Given the description of an element on the screen output the (x, y) to click on. 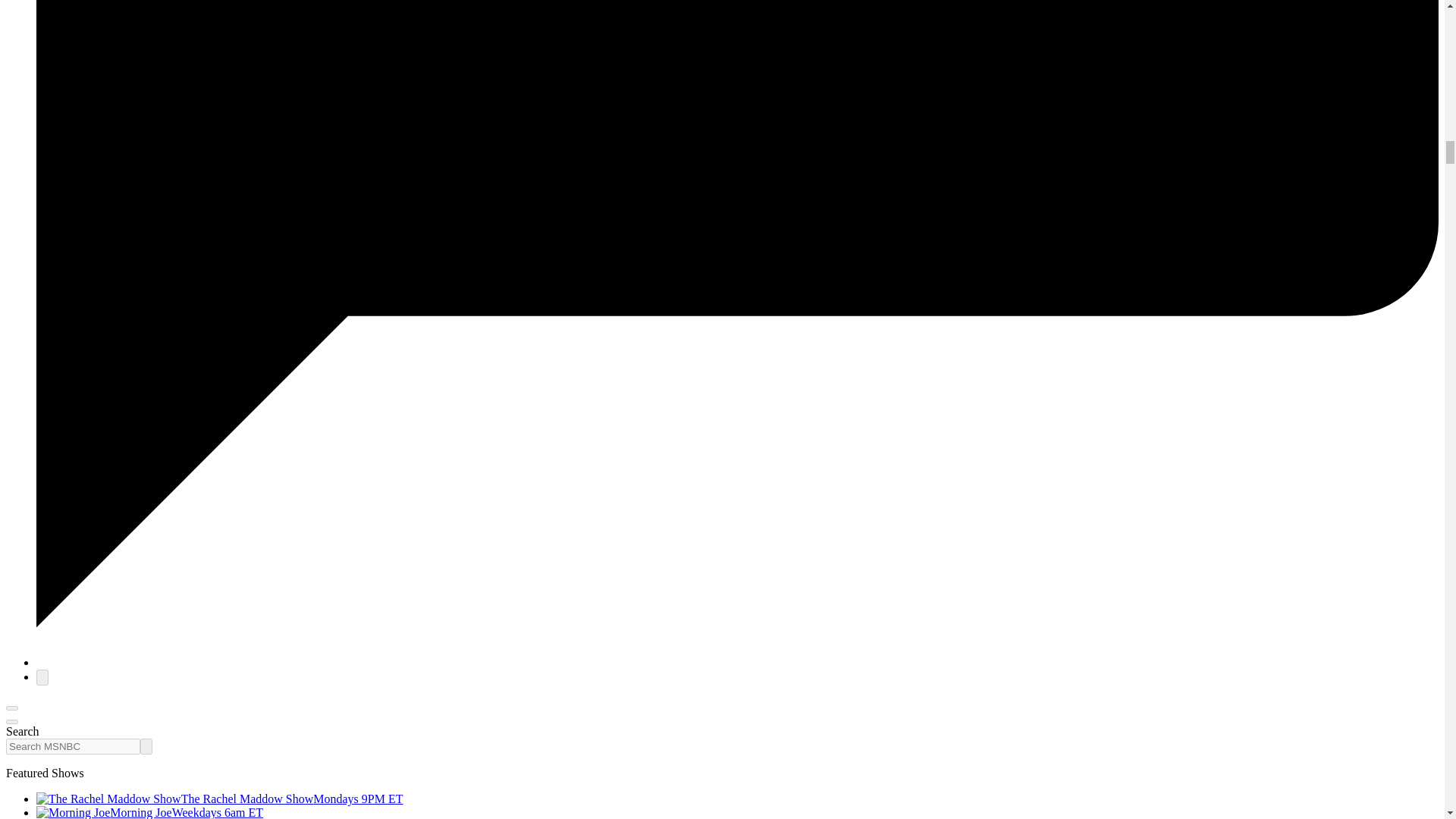
The Rachel Maddow ShowMondays 9PM ET (219, 798)
Morning JoeWeekdays 6am ET (149, 812)
